Given the description of an element on the screen output the (x, y) to click on. 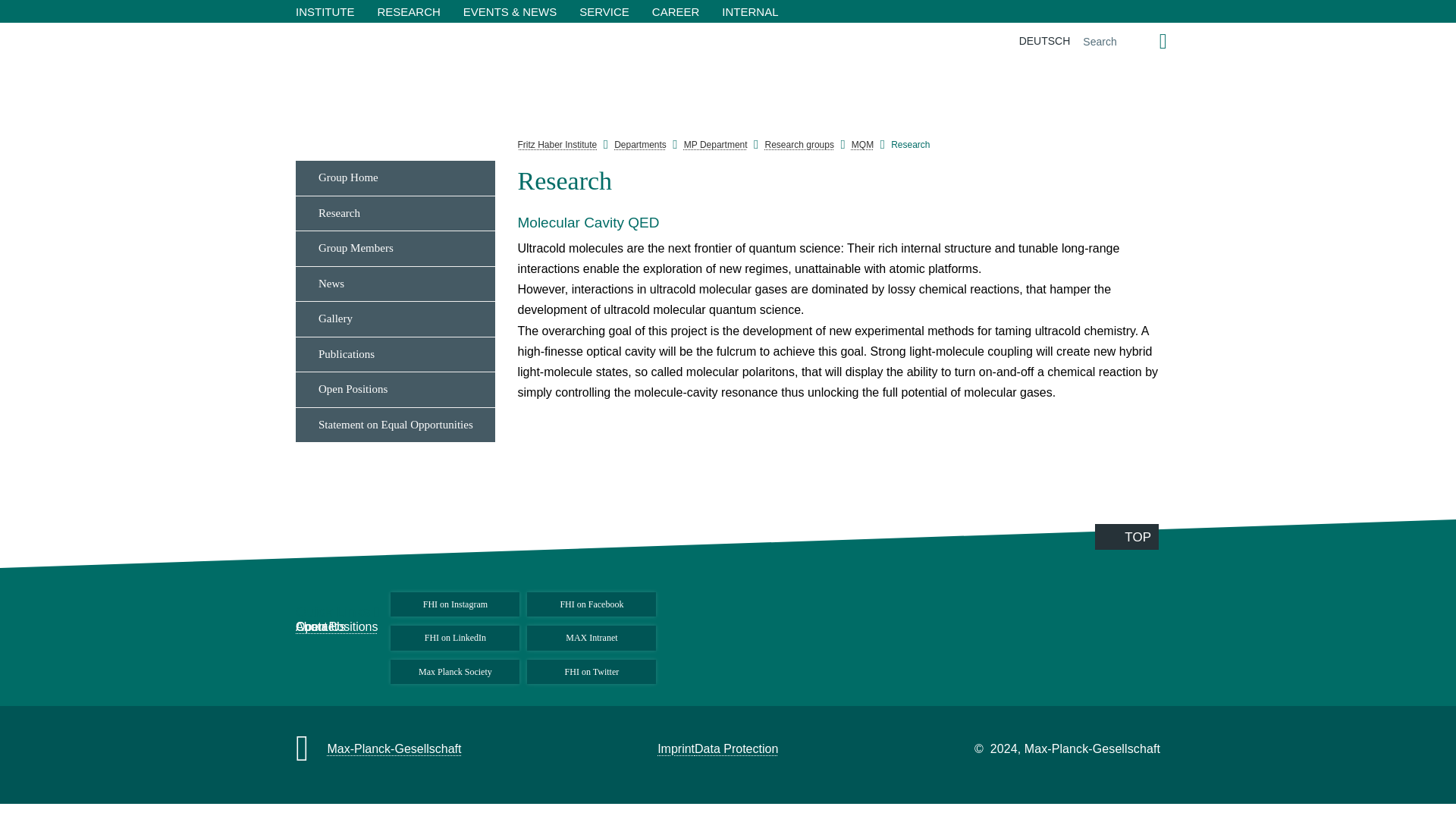
Xing (1182, 321)
E-Mail (1182, 354)
Facebook (1182, 184)
Twitter (1182, 287)
DEUTSCH (1044, 41)
LinkedIn (1182, 219)
Reddit (1182, 252)
INSTITUTE (324, 11)
Print (1182, 389)
RESEARCH (408, 11)
